Given the description of an element on the screen output the (x, y) to click on. 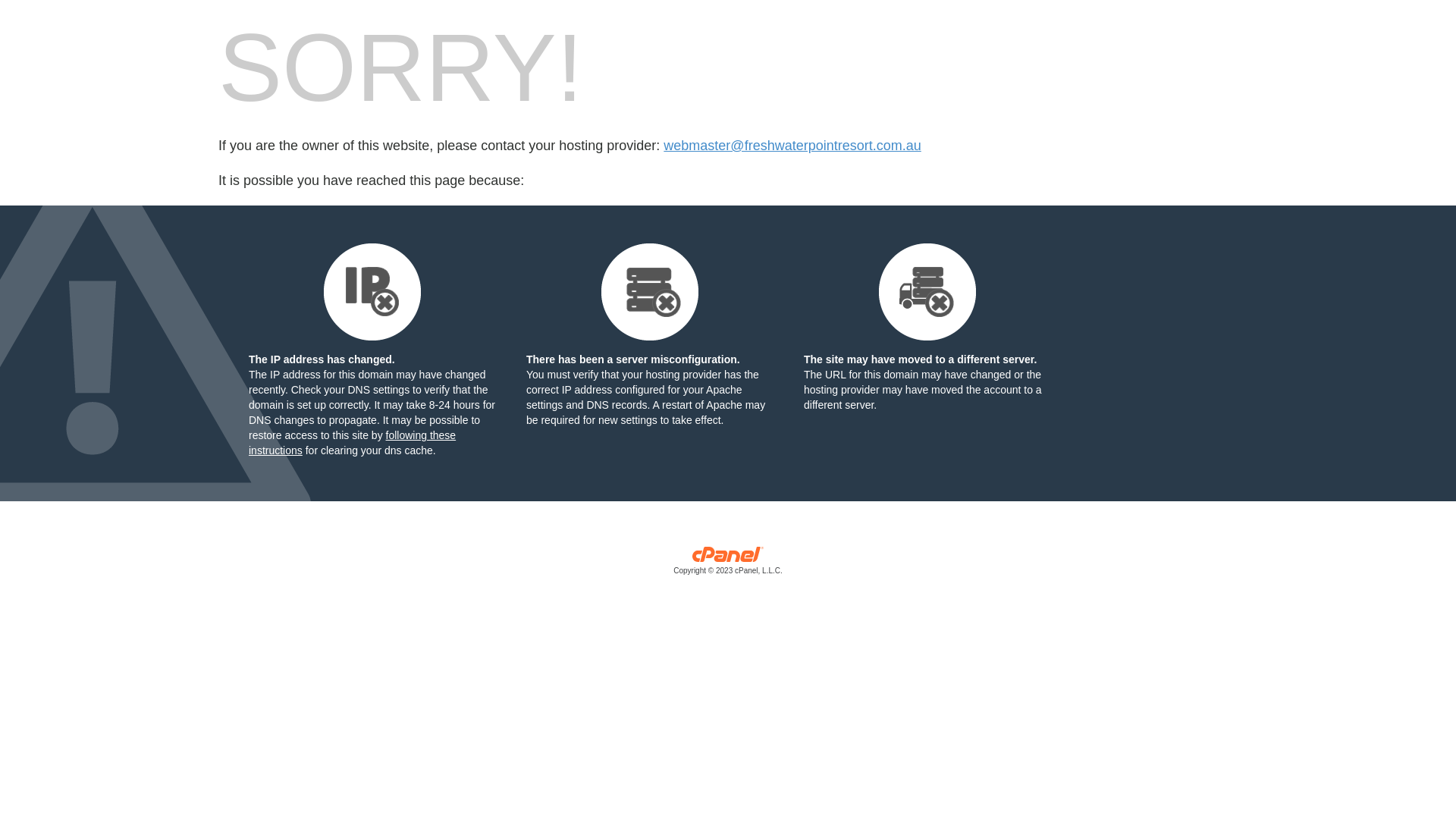
webmaster@freshwaterpointresort.com.au Element type: text (791, 145)
following these instructions Element type: text (351, 442)
